Given the description of an element on the screen output the (x, y) to click on. 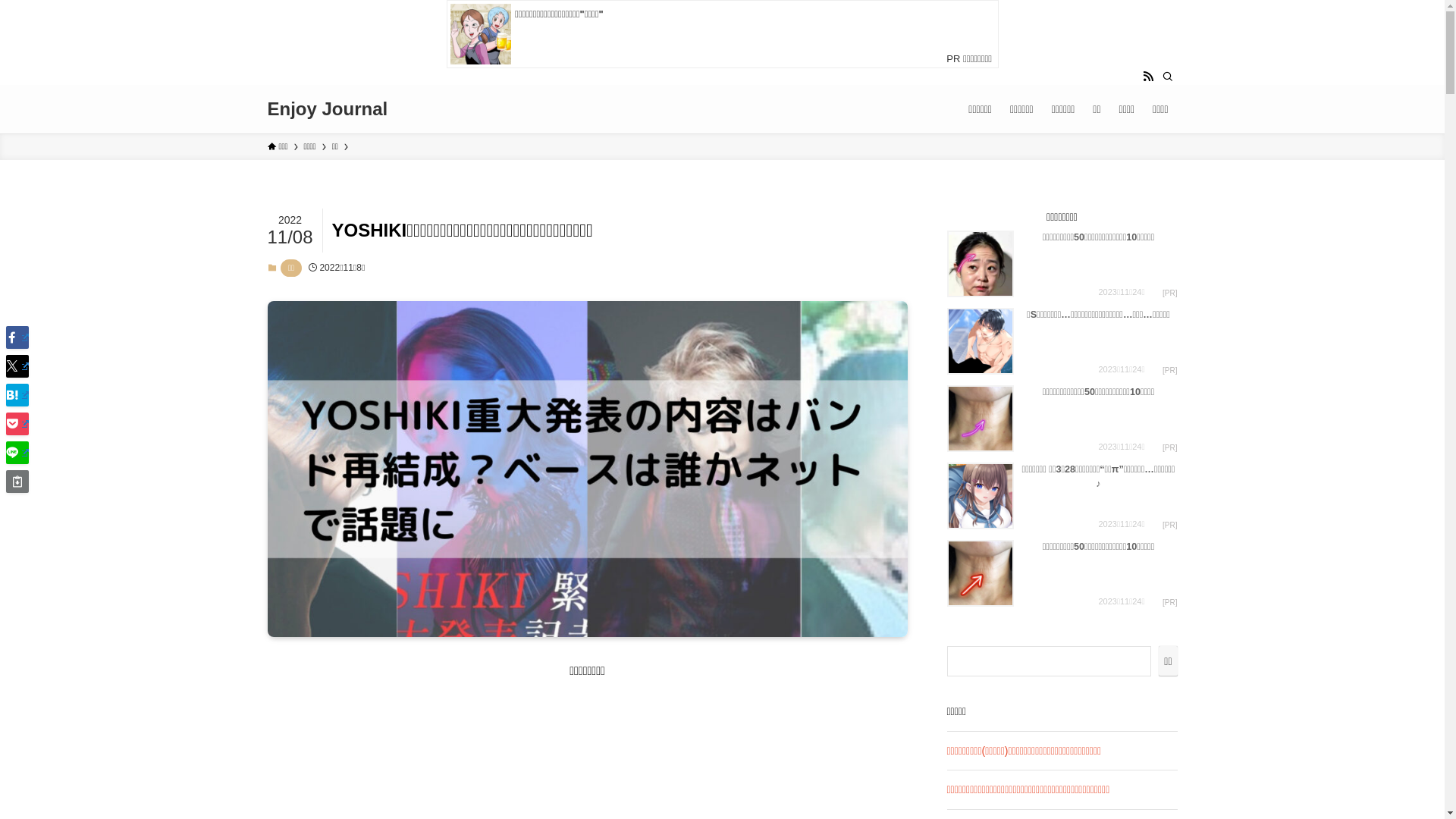
search Element type: text (921, 421)
Enjoy Journal Element type: text (326, 109)
